Given the description of an element on the screen output the (x, y) to click on. 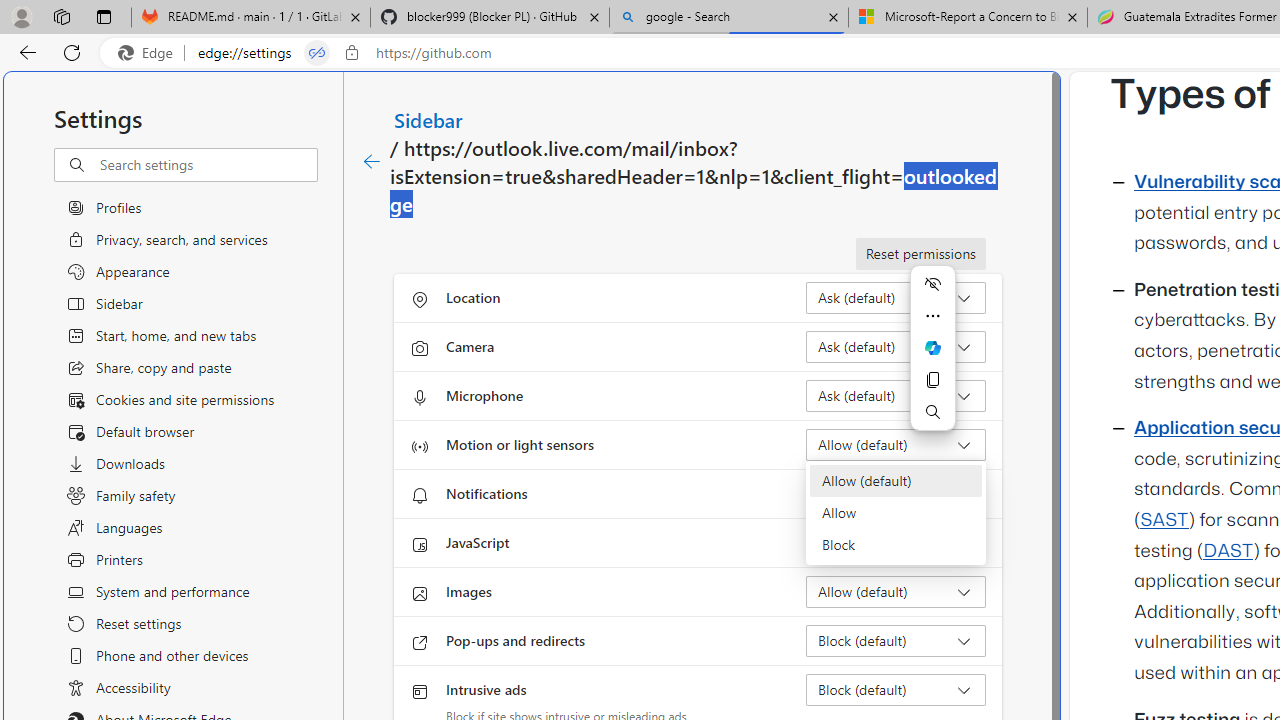
Microsoft-Report a Concern to Bing (967, 17)
Motion or light sensors Allow (default) (895, 444)
Ask Copilot (932, 347)
Search (932, 411)
Class: c01182 (371, 161)
Search settings (207, 165)
Notifications Ask (default) (895, 493)
Close tab (1072, 16)
Go back to Sidebar page. (372, 162)
Refresh (72, 52)
Hide menu (932, 283)
Personal Profile (21, 16)
Edge (150, 53)
